Given the description of an element on the screen output the (x, y) to click on. 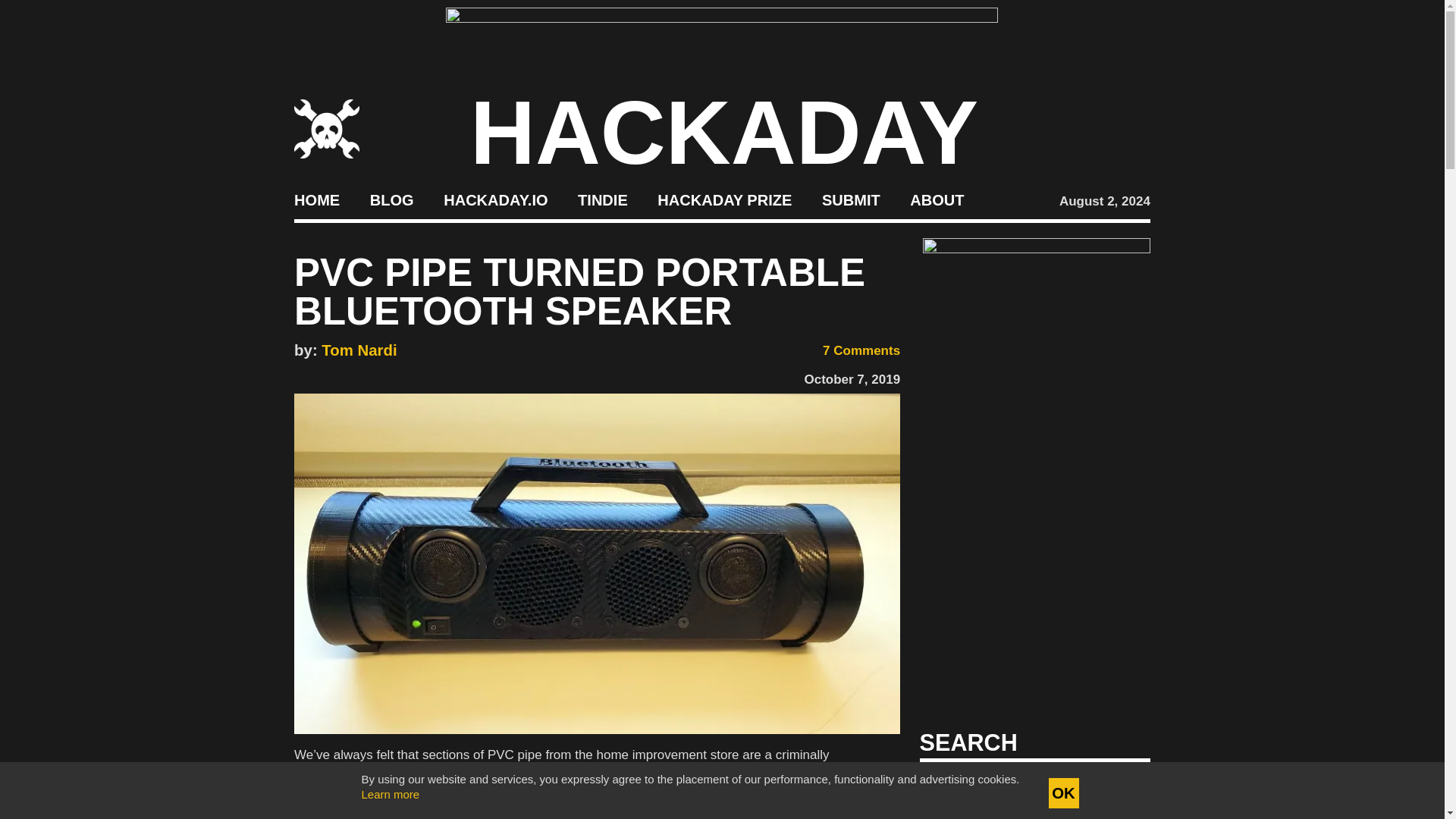
BLOG (391, 200)
HACKADAY (724, 131)
October 7, 2019 (851, 379)
he combined printed parts with a piece of four inch pipe (595, 799)
Search (1115, 787)
TINDIE (602, 200)
Tom Nardi (358, 350)
Copy title or shortlink (391, 376)
SUBMIT (851, 200)
October 7, 2019 - 1:00 am (851, 379)
HACKADAY PRIZE (725, 200)
7 Comments (851, 350)
HOME (316, 200)
Share on Reddit (369, 375)
Share on Hacker News (347, 375)
